Given the description of an element on the screen output the (x, y) to click on. 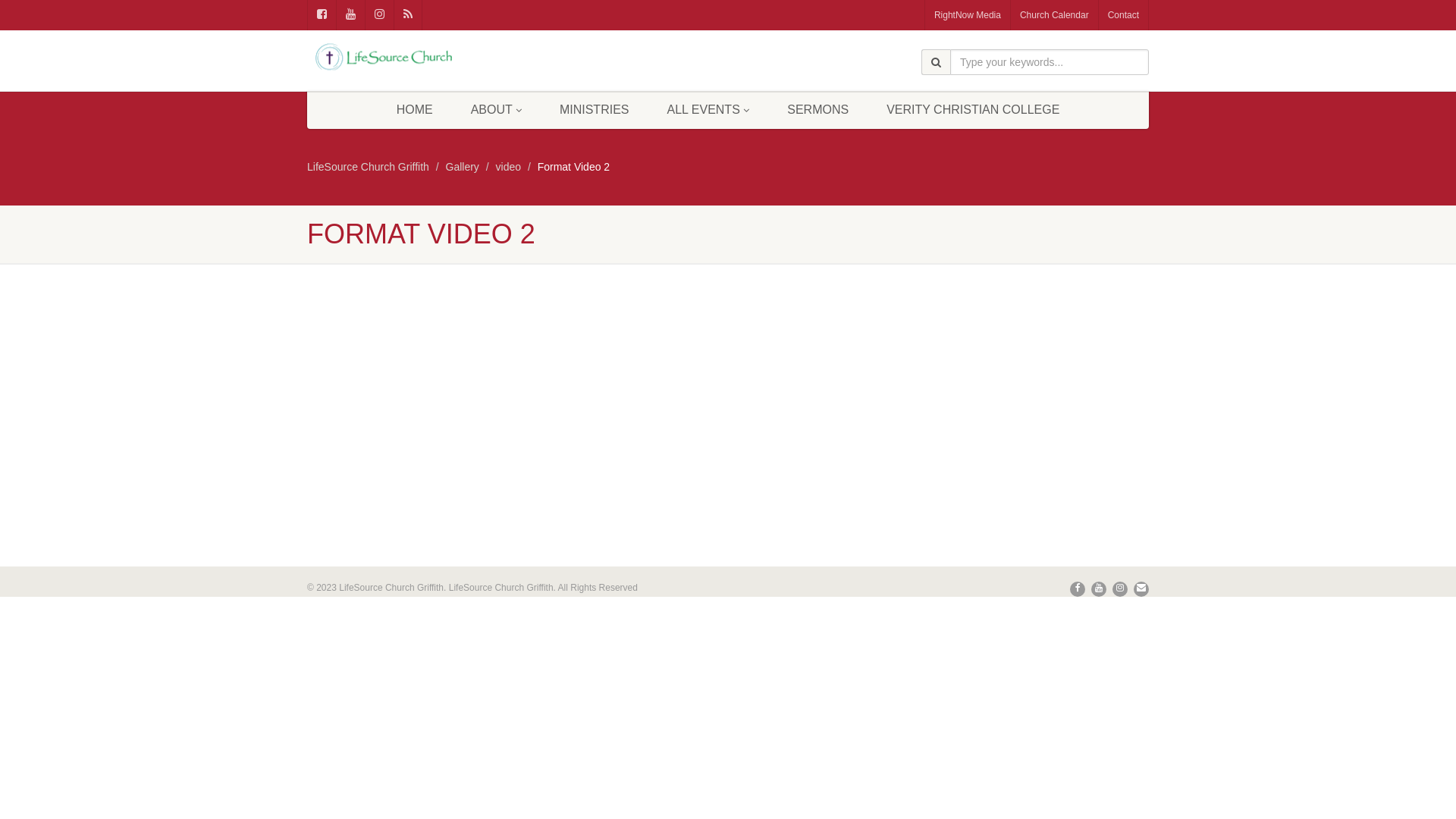
ALL EVENTS Element type: text (707, 109)
Logo Element type: hover (439, 56)
VERITY CHRISTIAN COLLEGE Element type: text (972, 109)
Church Calendar Element type: text (1054, 15)
RightNow Media Element type: text (967, 15)
ABOUT Element type: text (495, 109)
MINISTRIES Element type: text (594, 109)
video Element type: text (507, 166)
Contact Element type: text (1123, 15)
Gallery Element type: text (462, 166)
SERMONS Element type: text (817, 109)
LifeSource Church Griffith Element type: text (368, 166)
HOME Element type: text (414, 109)
